Given the description of an element on the screen output the (x, y) to click on. 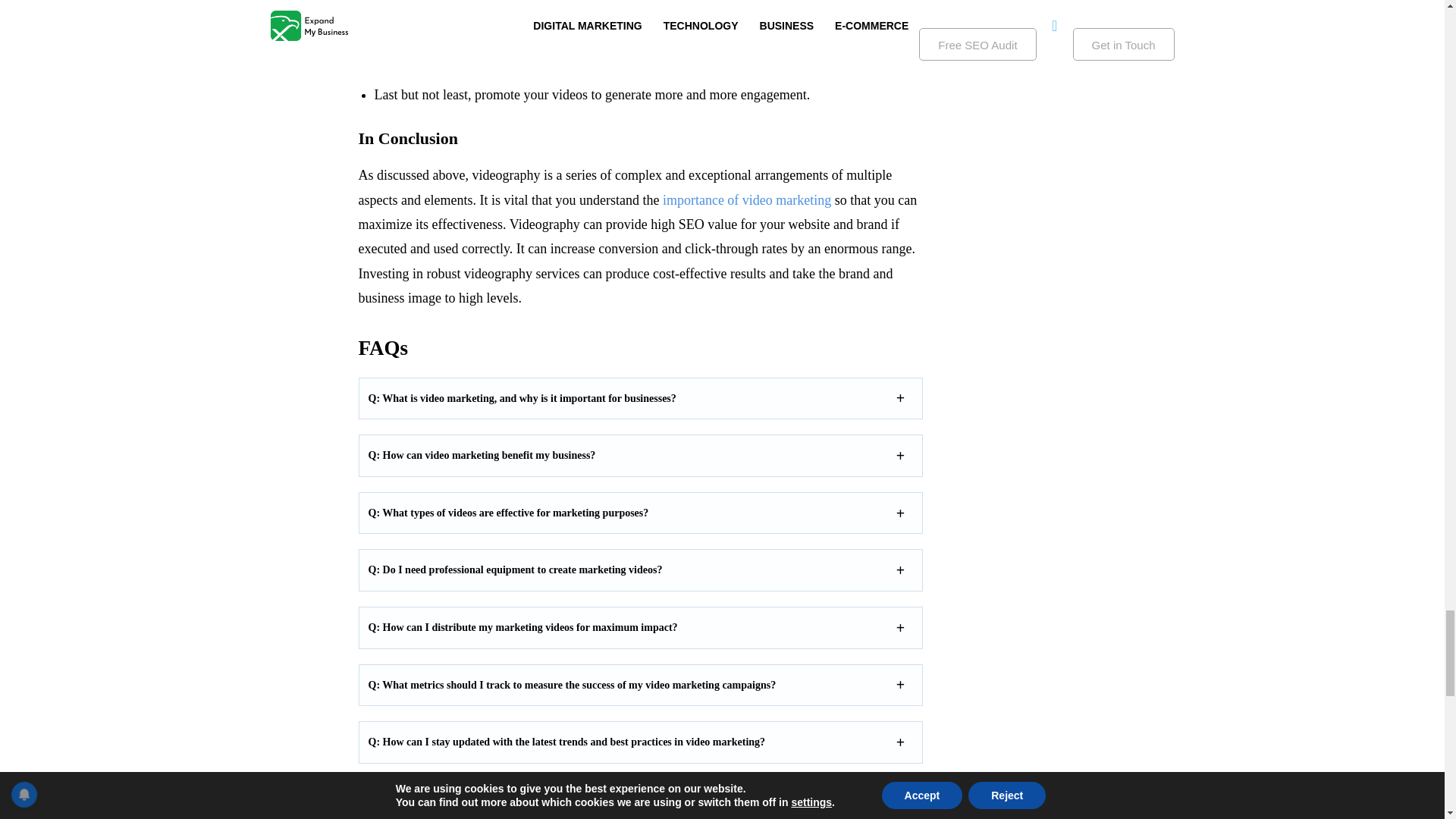
importance of video marketing (746, 200)
importance of video marketing (746, 200)
